Given the description of an element on the screen output the (x, y) to click on. 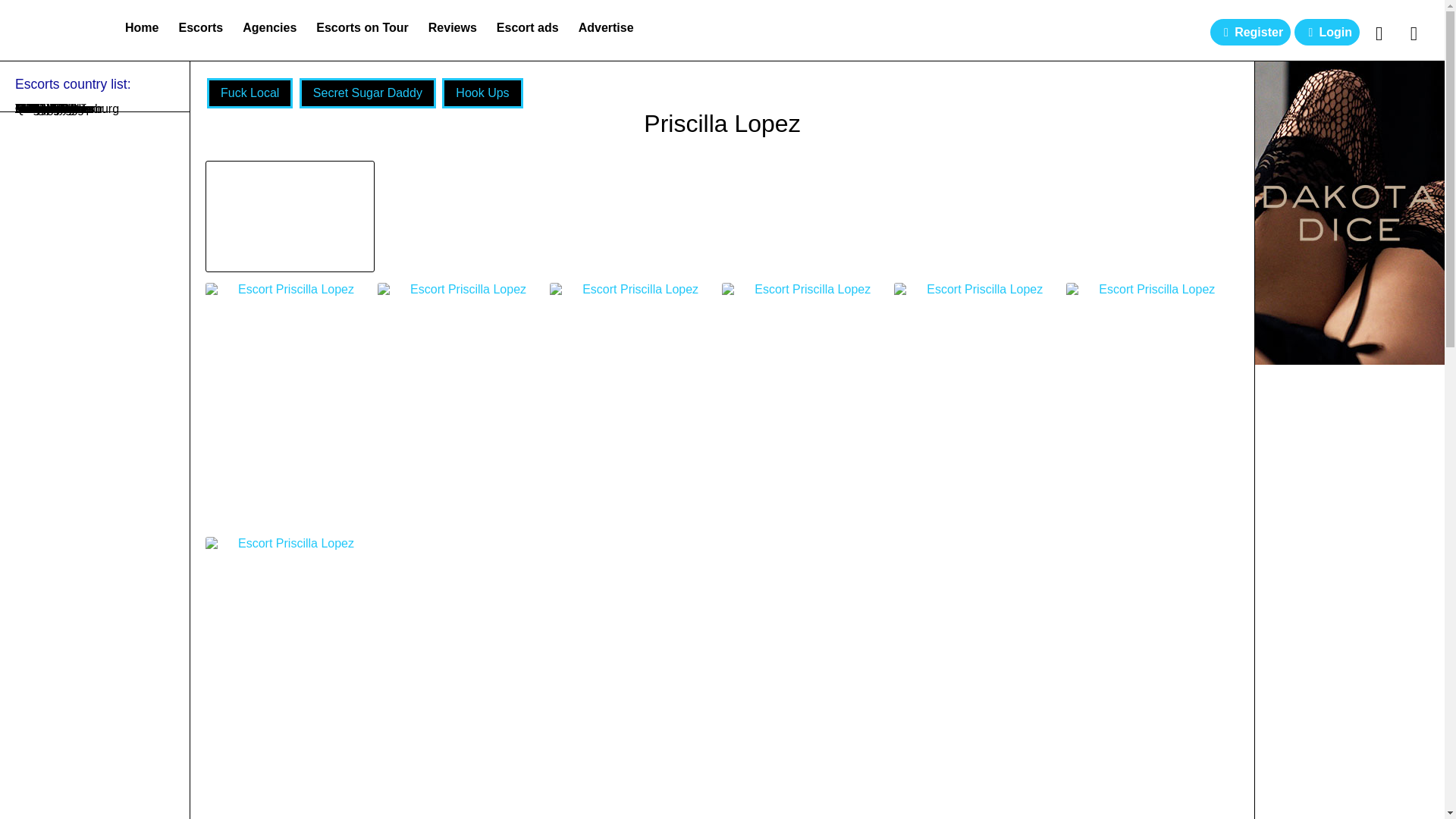
Search (1378, 33)
Fuck Local (249, 93)
Escort ads (527, 27)
Hook Ups (481, 93)
Reviews (452, 27)
Contact Us (1413, 33)
Advertise (606, 27)
Home (141, 27)
Agencies (268, 27)
Register (1249, 31)
Escorts on Tour (362, 27)
Login (1326, 31)
Priscilla Lopez (722, 127)
Secret Sugar Daddy (367, 93)
Escorts (200, 27)
